Given the description of an element on the screen output the (x, y) to click on. 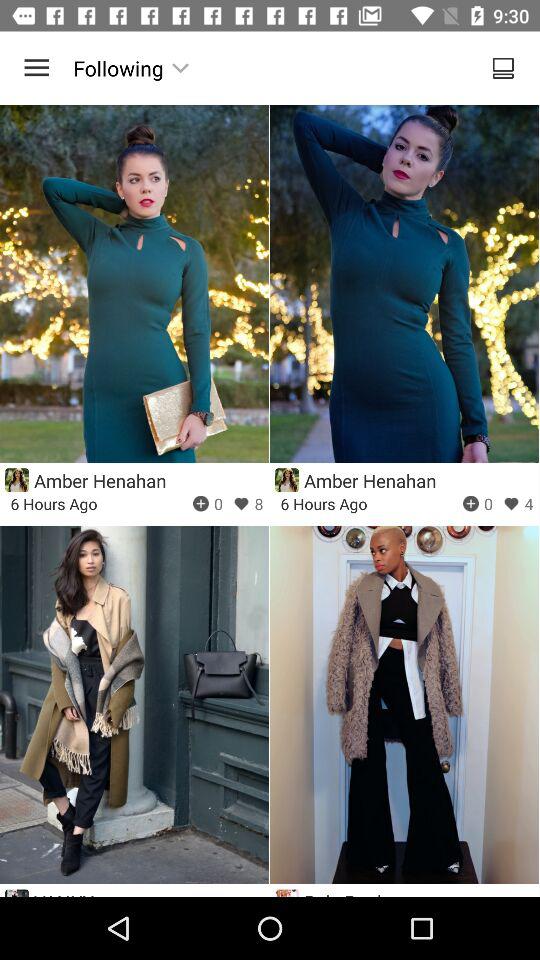
go to user 's profile (16, 479)
